Given the description of an element on the screen output the (x, y) to click on. 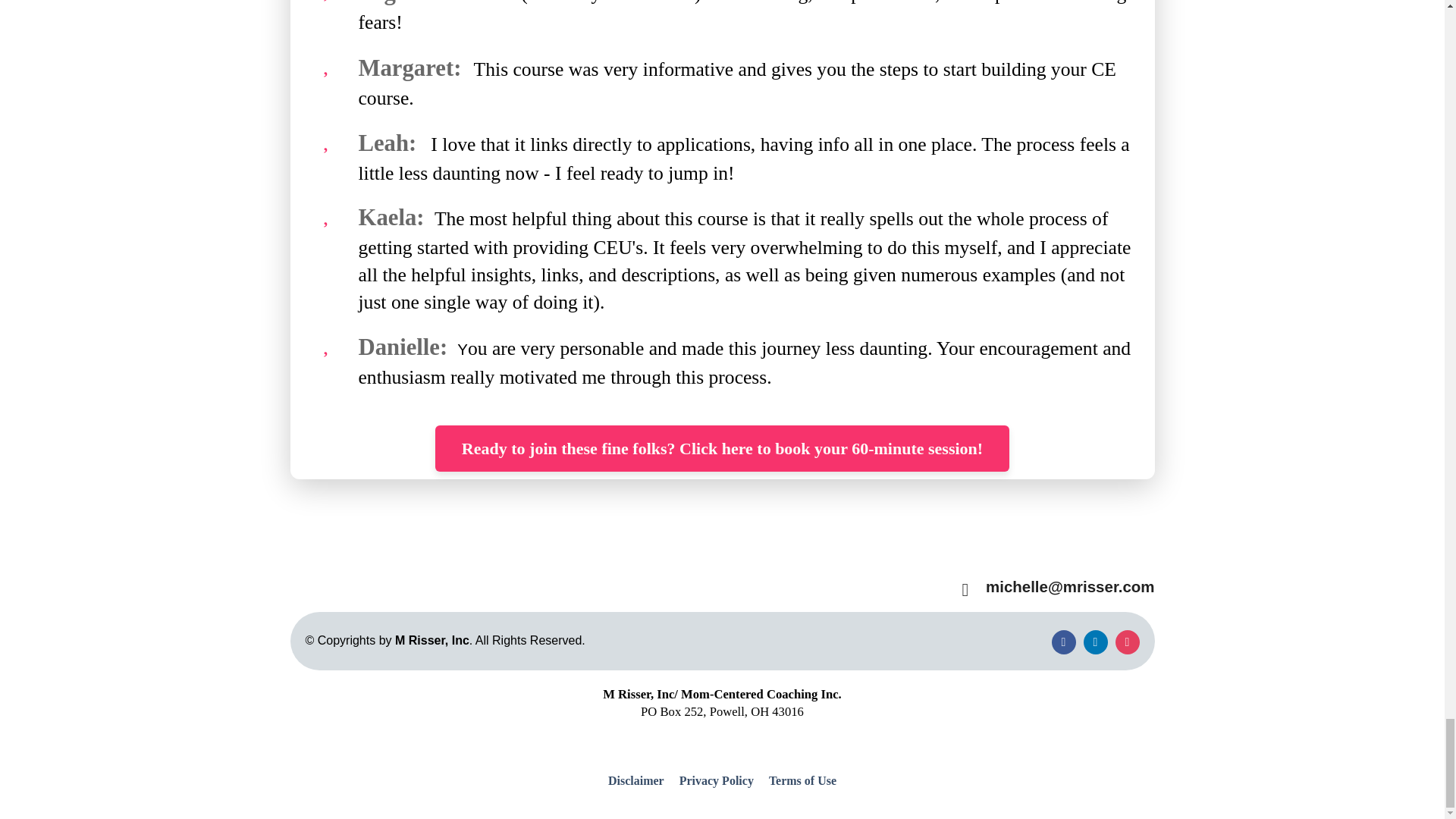
Disclaimer (639, 780)
Terms of Use (798, 780)
Privacy Policy (716, 780)
